Given the description of an element on the screen output the (x, y) to click on. 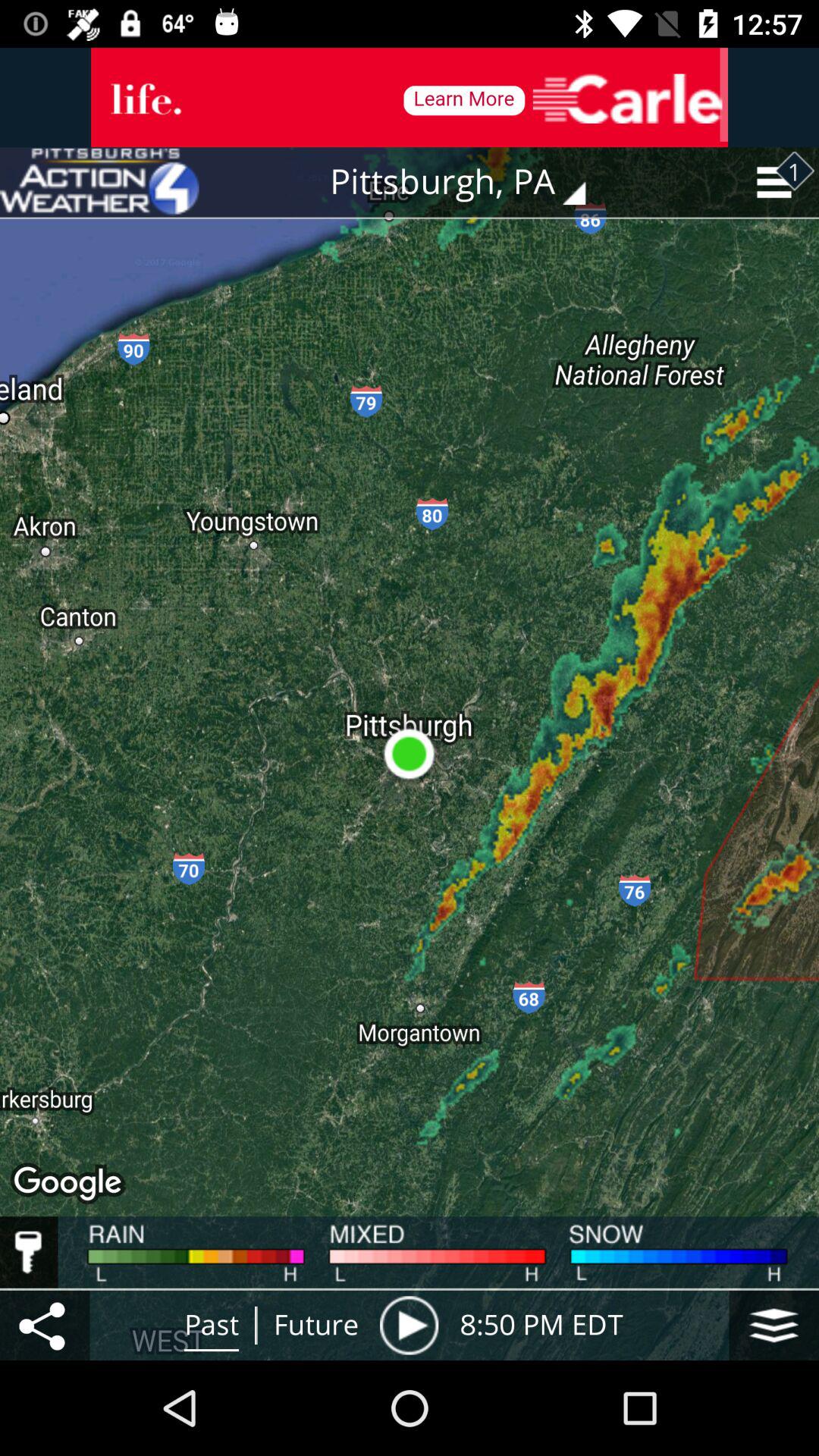
open layers menu (774, 1325)
